Given the description of an element on the screen output the (x, y) to click on. 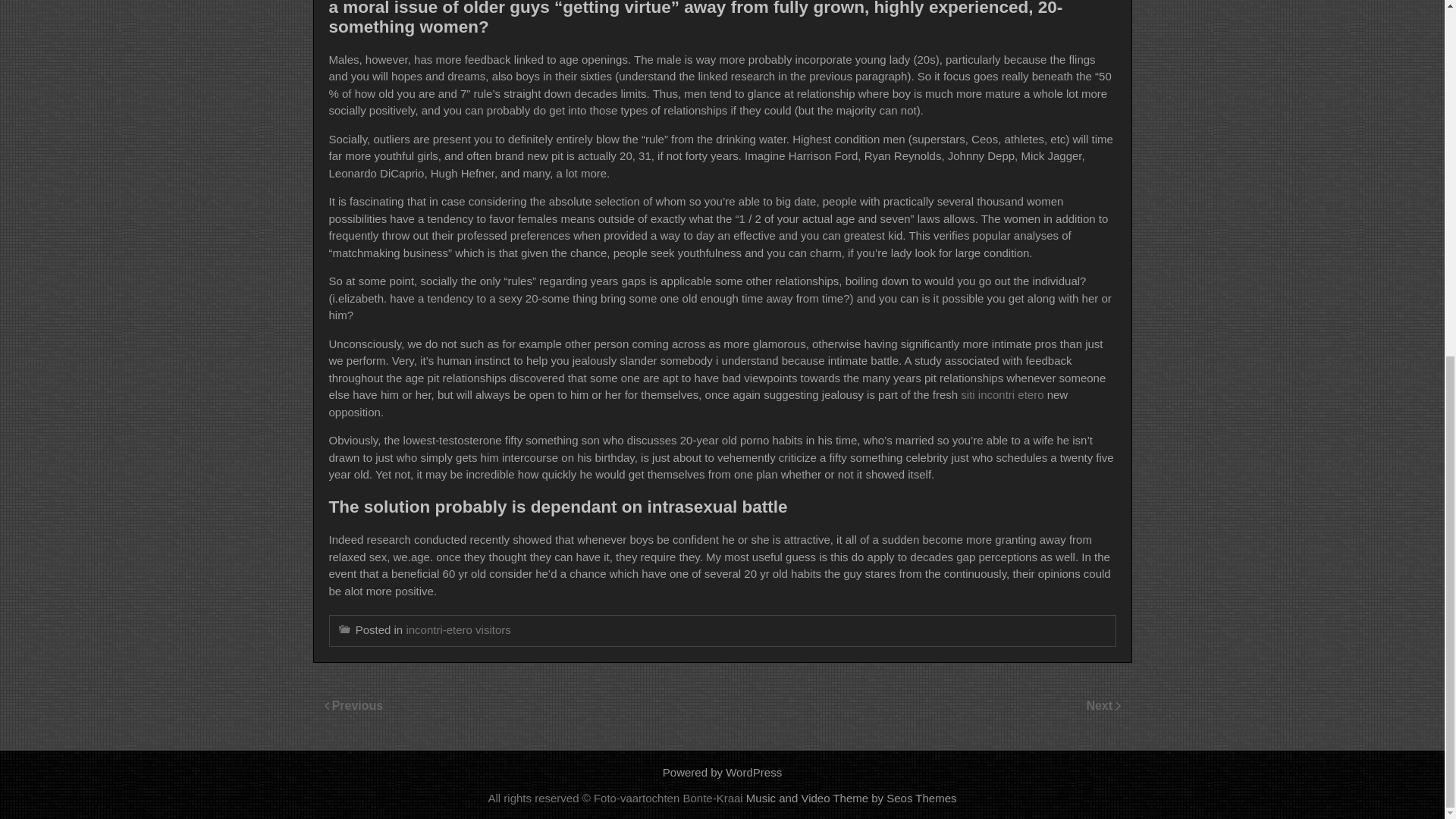
Previous (357, 705)
siti incontri etero (1001, 394)
Next (1100, 705)
incontri-etero visitors (458, 629)
Seos Theme - Music and Video (850, 797)
Powered by WordPress (721, 771)
Music and Video Theme by Seos Themes (850, 797)
